Given the description of an element on the screen output the (x, y) to click on. 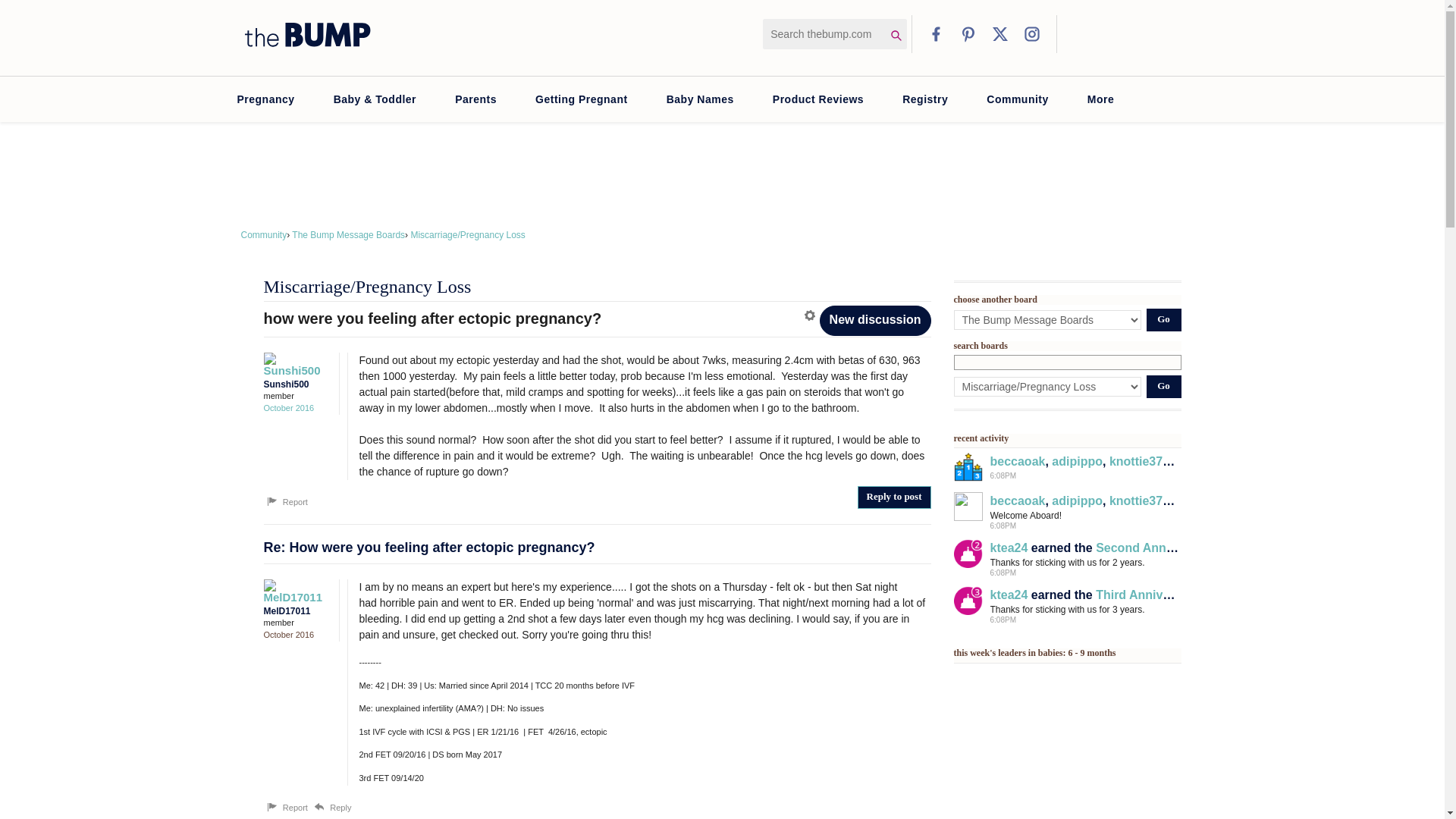
Report (285, 807)
October 4, 2016 11:49PM (288, 634)
Report (285, 501)
Go (1163, 319)
Go (1163, 386)
member (297, 395)
member (297, 622)
October 4, 2016 10:28PM (288, 407)
MelD17011 (293, 590)
Options (811, 315)
